Given the description of an element on the screen output the (x, y) to click on. 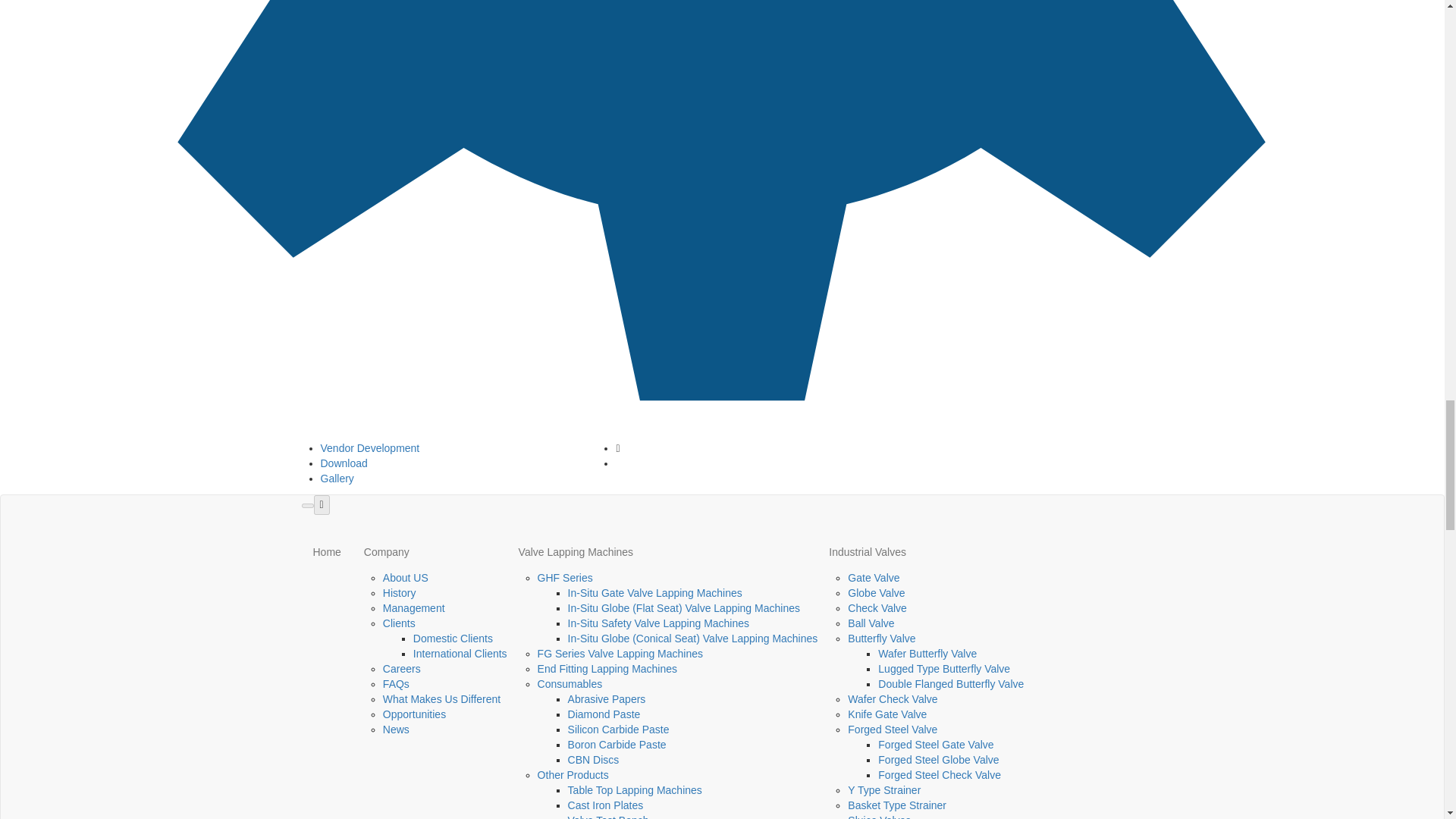
Other Products (572, 775)
What Makes Us Different (441, 698)
Company (429, 551)
Management (413, 607)
Gallery (336, 478)
FAQs (395, 684)
Abrasive Papers (606, 698)
In-Situ Safety Valve Lapping Machines (658, 623)
Domestic Clients (453, 638)
FG Series Valve Lapping Machines (620, 653)
